Given the description of an element on the screen output the (x, y) to click on. 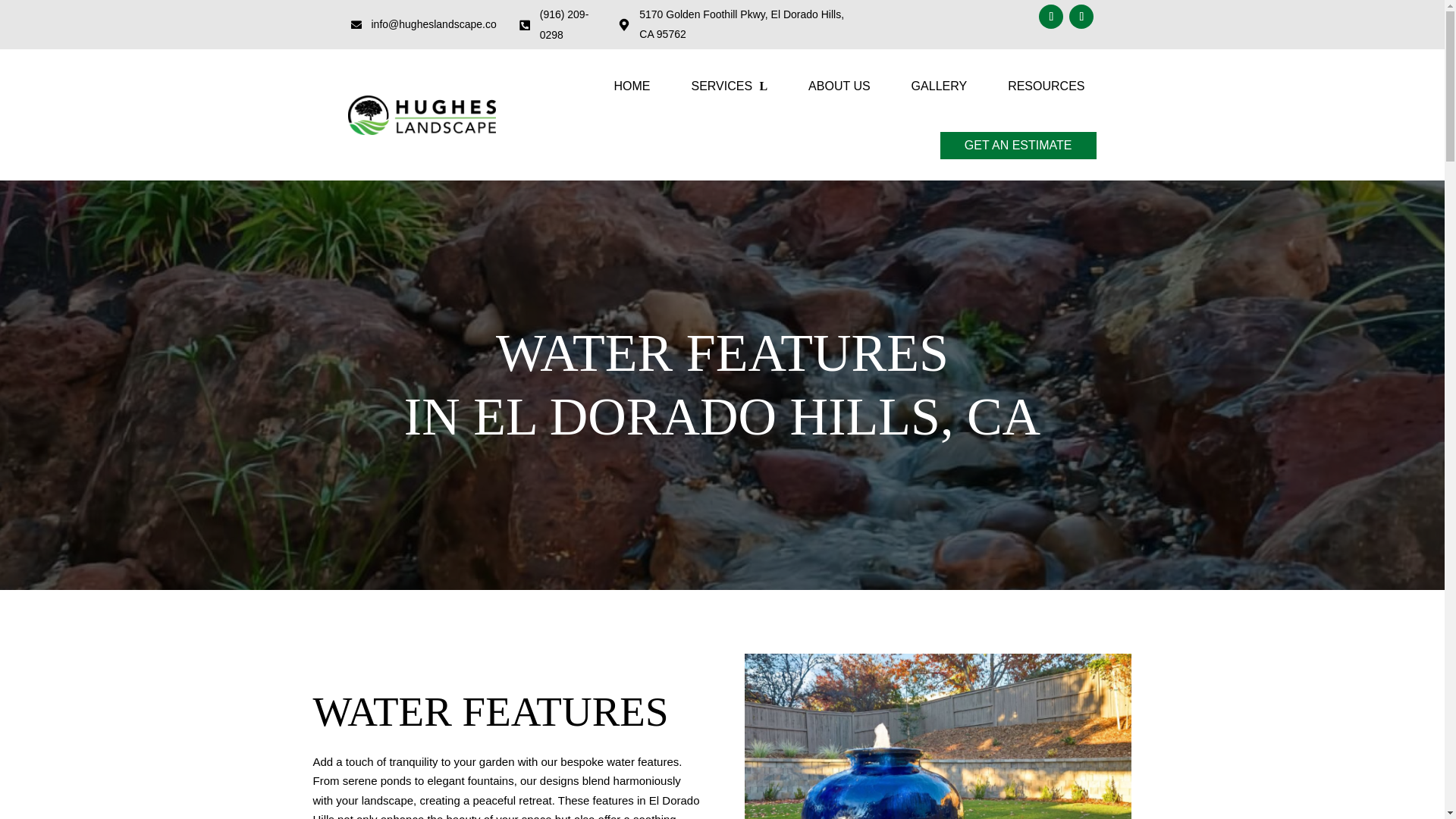
RESOURCES (1045, 86)
SERVICES (728, 86)
GALLERY (939, 86)
Follow on Facebook (1050, 16)
GET AN ESTIMATE (1018, 144)
Follow on Instagram (1080, 16)
ABOUT US (839, 86)
